Given the description of an element on the screen output the (x, y) to click on. 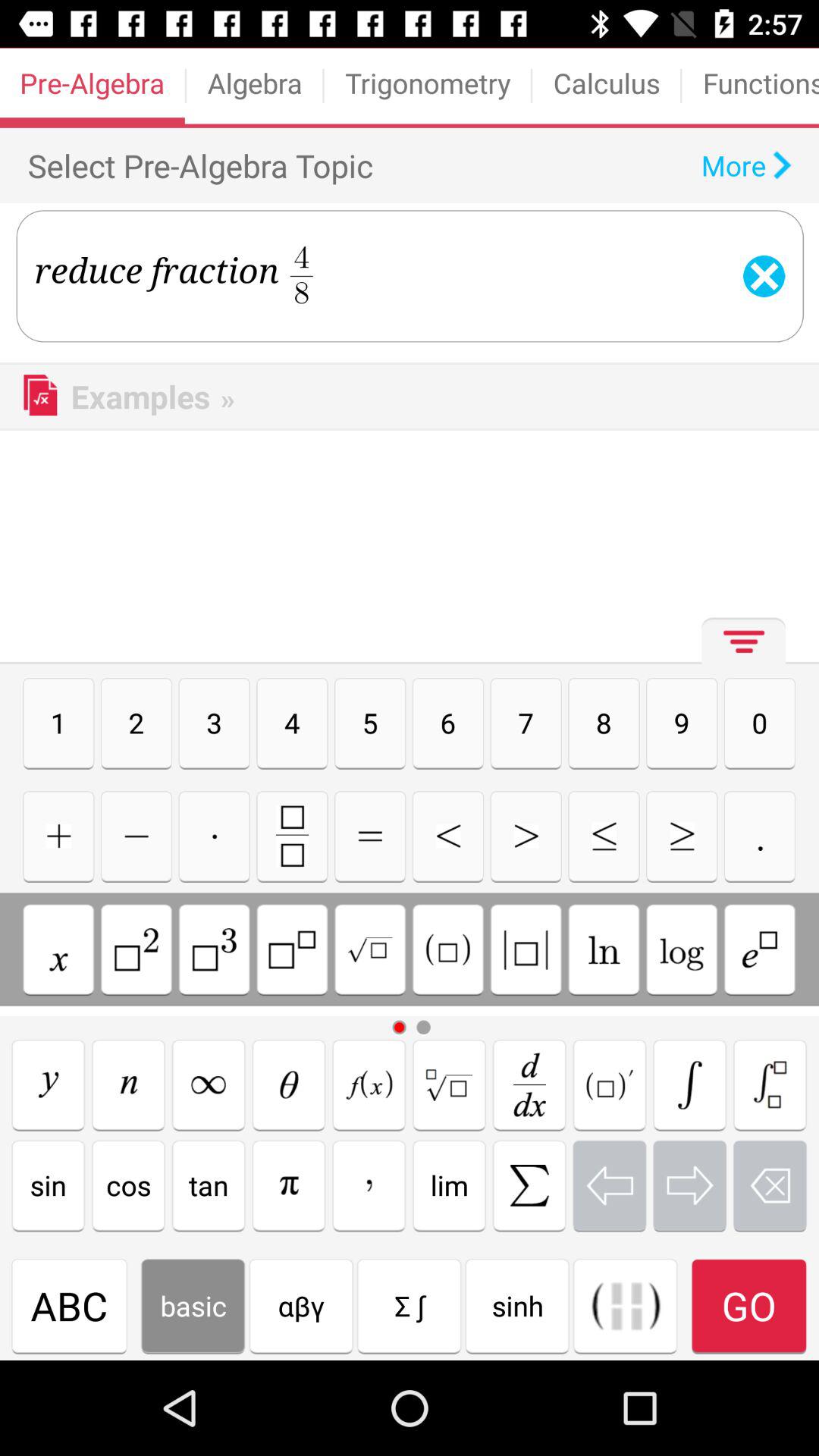
enter y (48, 1084)
